Given the description of an element on the screen output the (x, y) to click on. 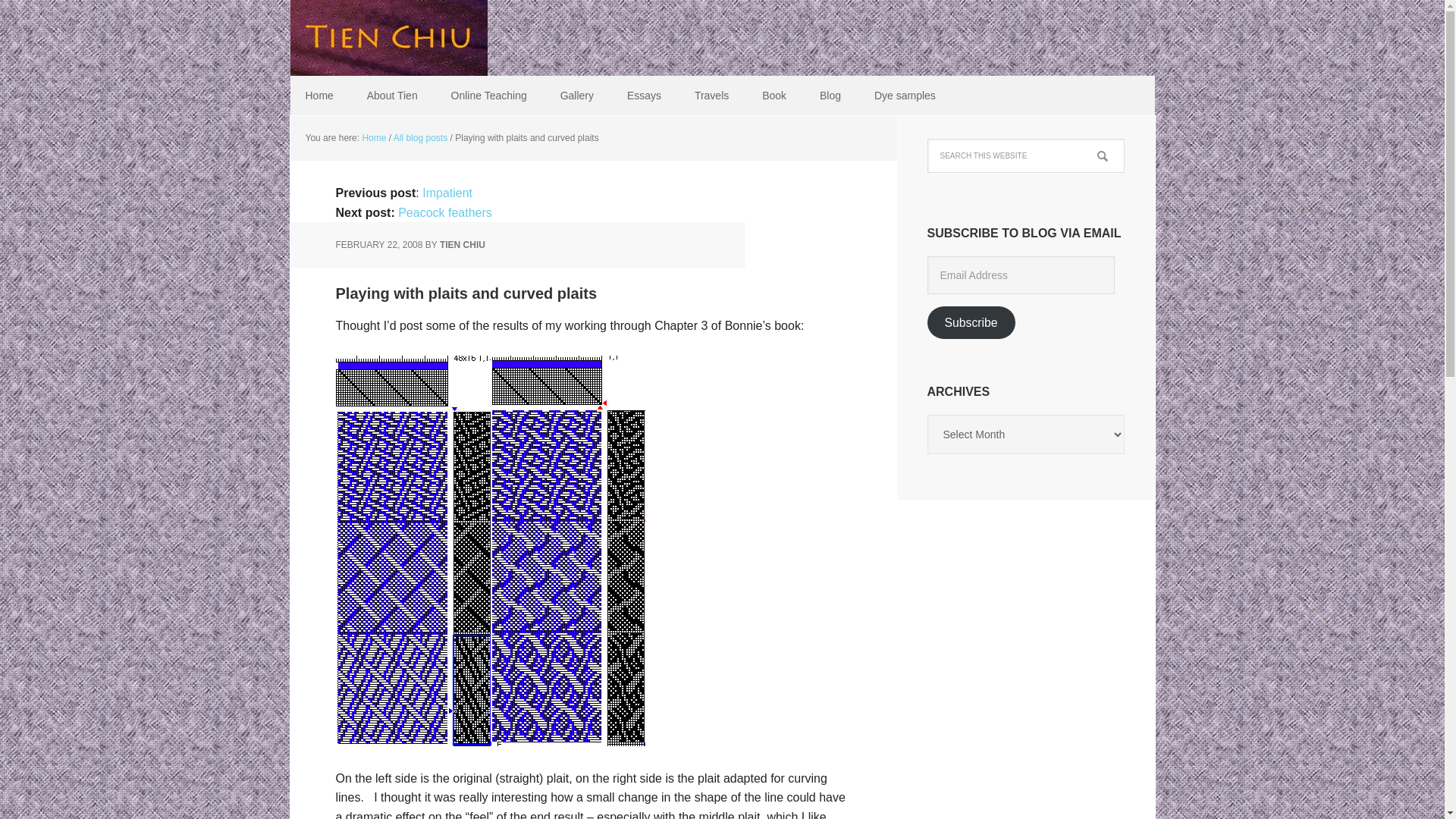
TIEN CHIU (461, 244)
Peacock feathers (444, 212)
Dye samples (904, 96)
Book (774, 96)
Travels (711, 96)
Essays (644, 96)
Tien Chiu (387, 38)
plaits-and-curved-plaits.jpg (489, 738)
